Given the description of an element on the screen output the (x, y) to click on. 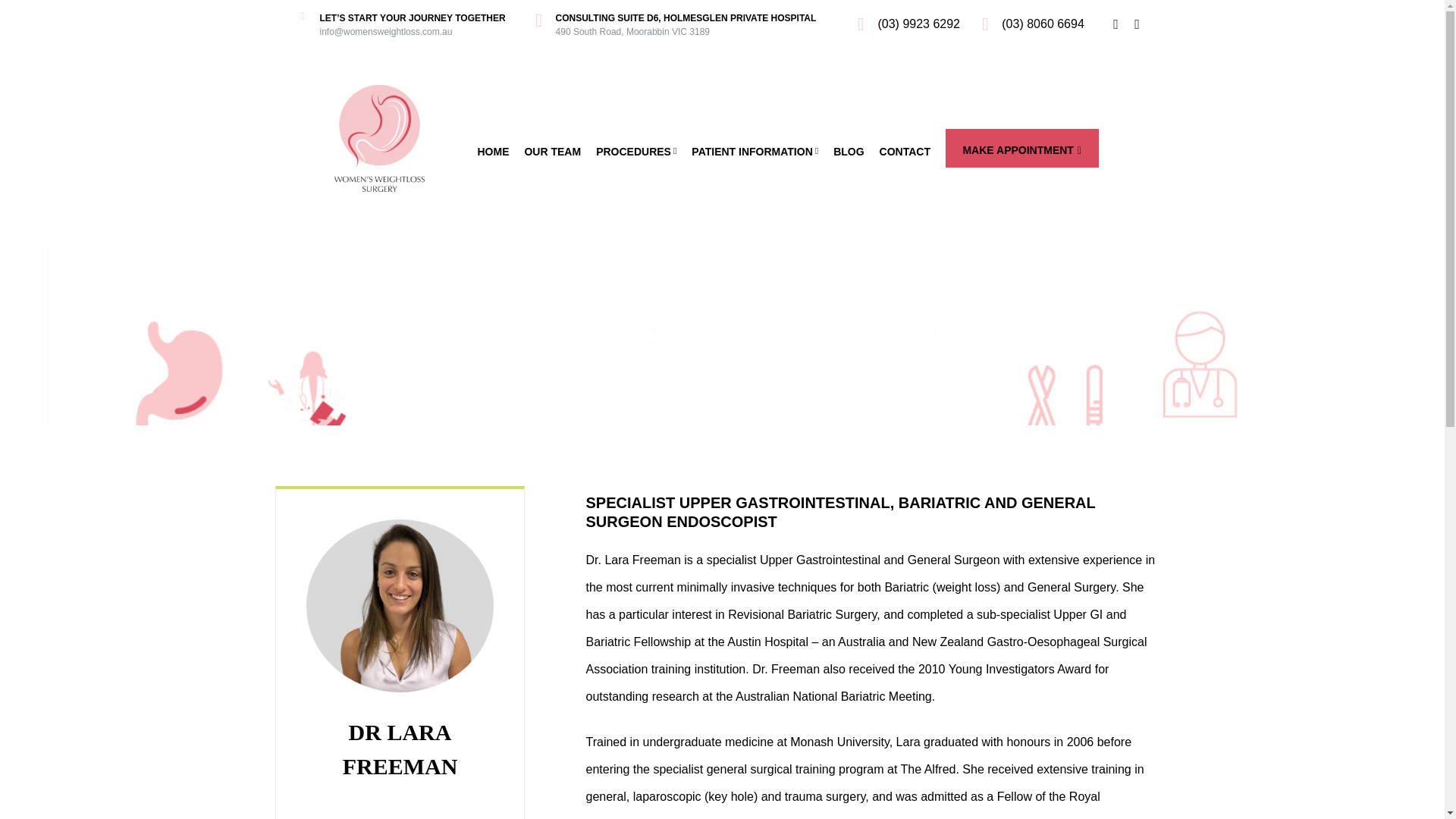
OUR TEAM (552, 151)
HOME (492, 151)
PROCEDURES (636, 151)
BLOG (847, 151)
CONTACT (904, 151)
PATIENT INFORMATION (754, 151)
MAKE APPOINTMENT (1021, 147)
